Given the description of an element on the screen output the (x, y) to click on. 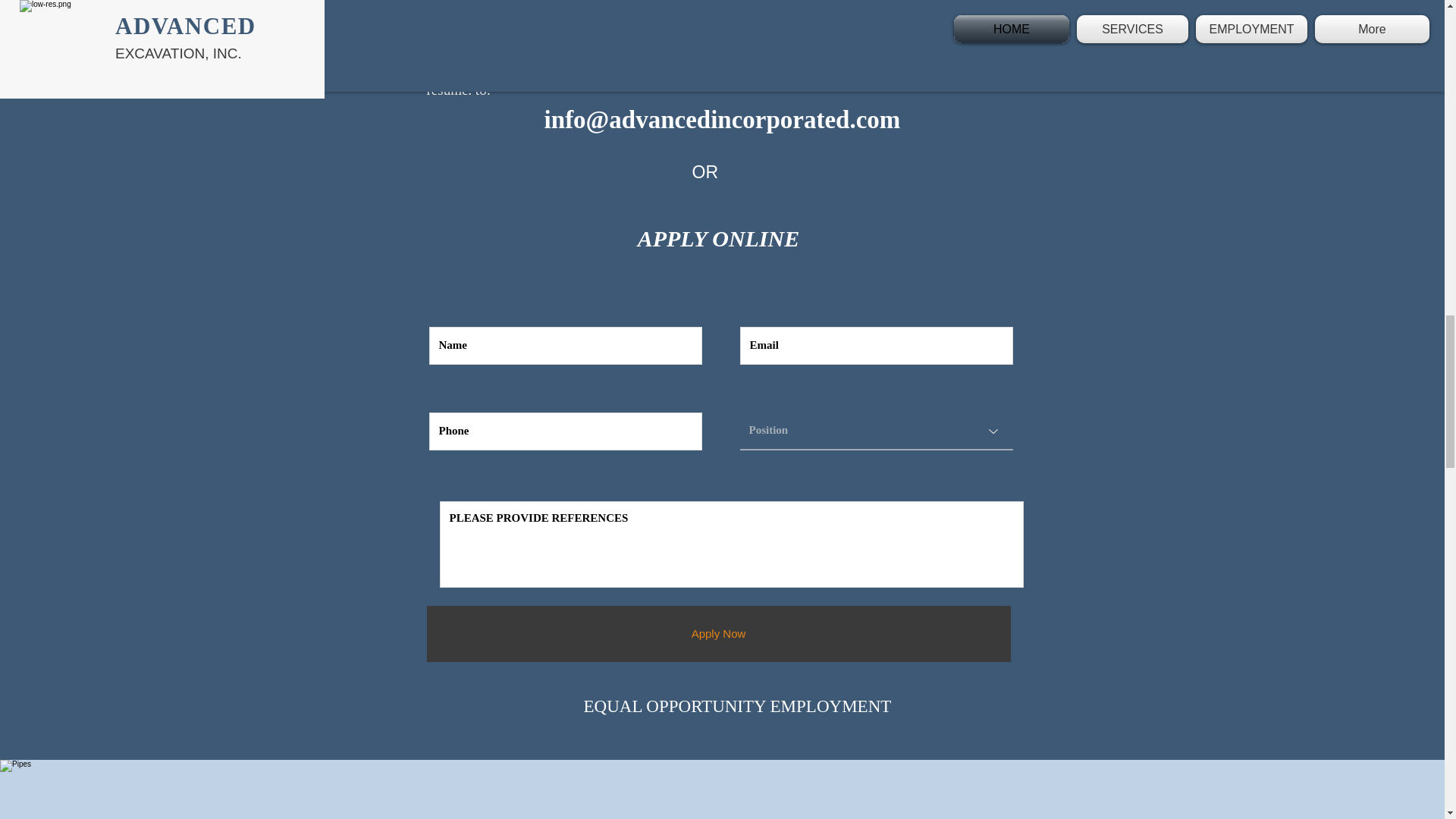
Apply Now (718, 632)
